Given the description of an element on the screen output the (x, y) to click on. 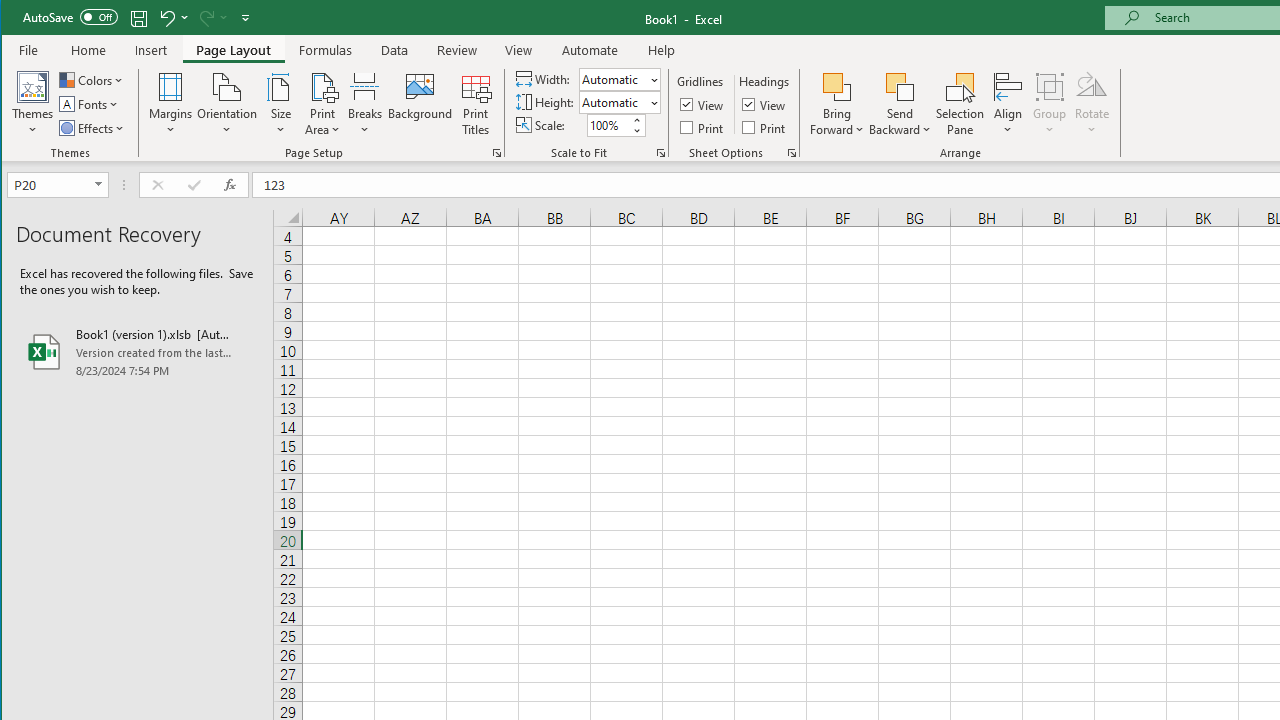
Print Titles (475, 104)
Print Area (323, 104)
Scale (607, 125)
Open (99, 184)
Redo (211, 17)
Insert (151, 50)
Sheet Options (791, 152)
More Options (900, 123)
Print (765, 126)
Bring Forward (836, 86)
Redo (205, 17)
